Given the description of an element on the screen output the (x, y) to click on. 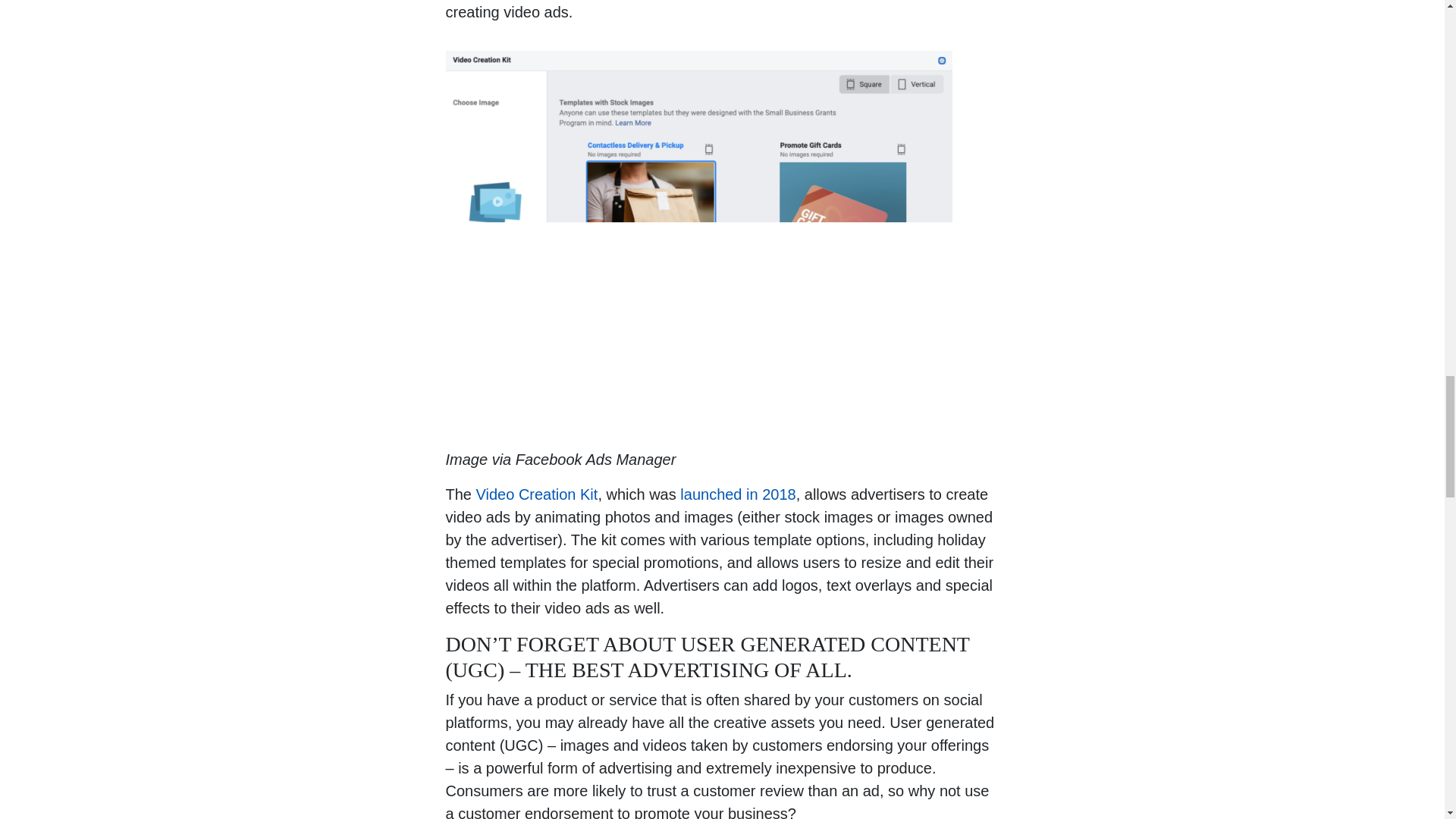
Video Creation Kit (537, 494)
launched in 2018 (736, 494)
